Given the description of an element on the screen output the (x, y) to click on. 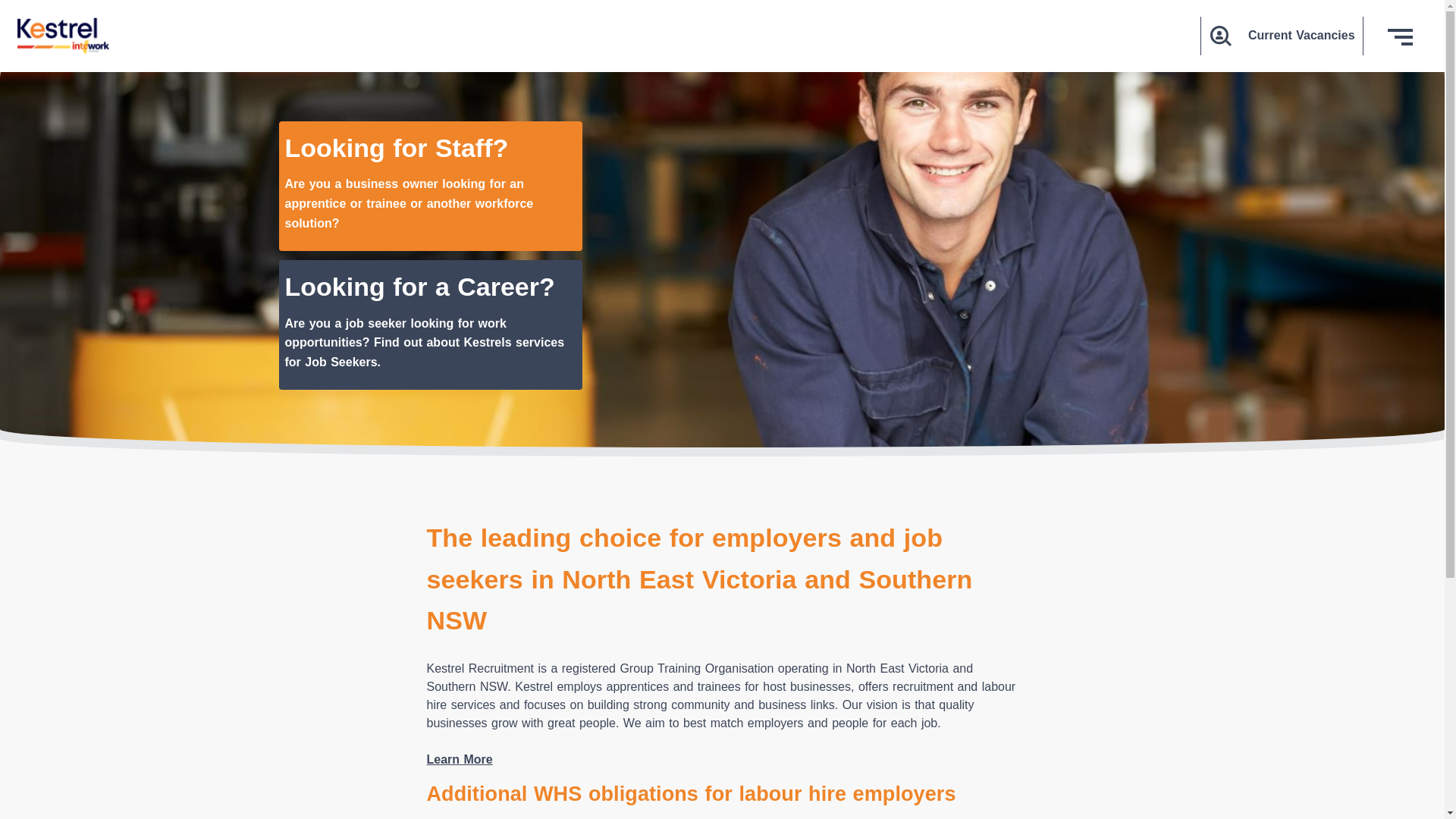
Current Vacancies Element type: text (1281, 35)
Learn More Element type: text (459, 759)
